Given the description of an element on the screen output the (x, y) to click on. 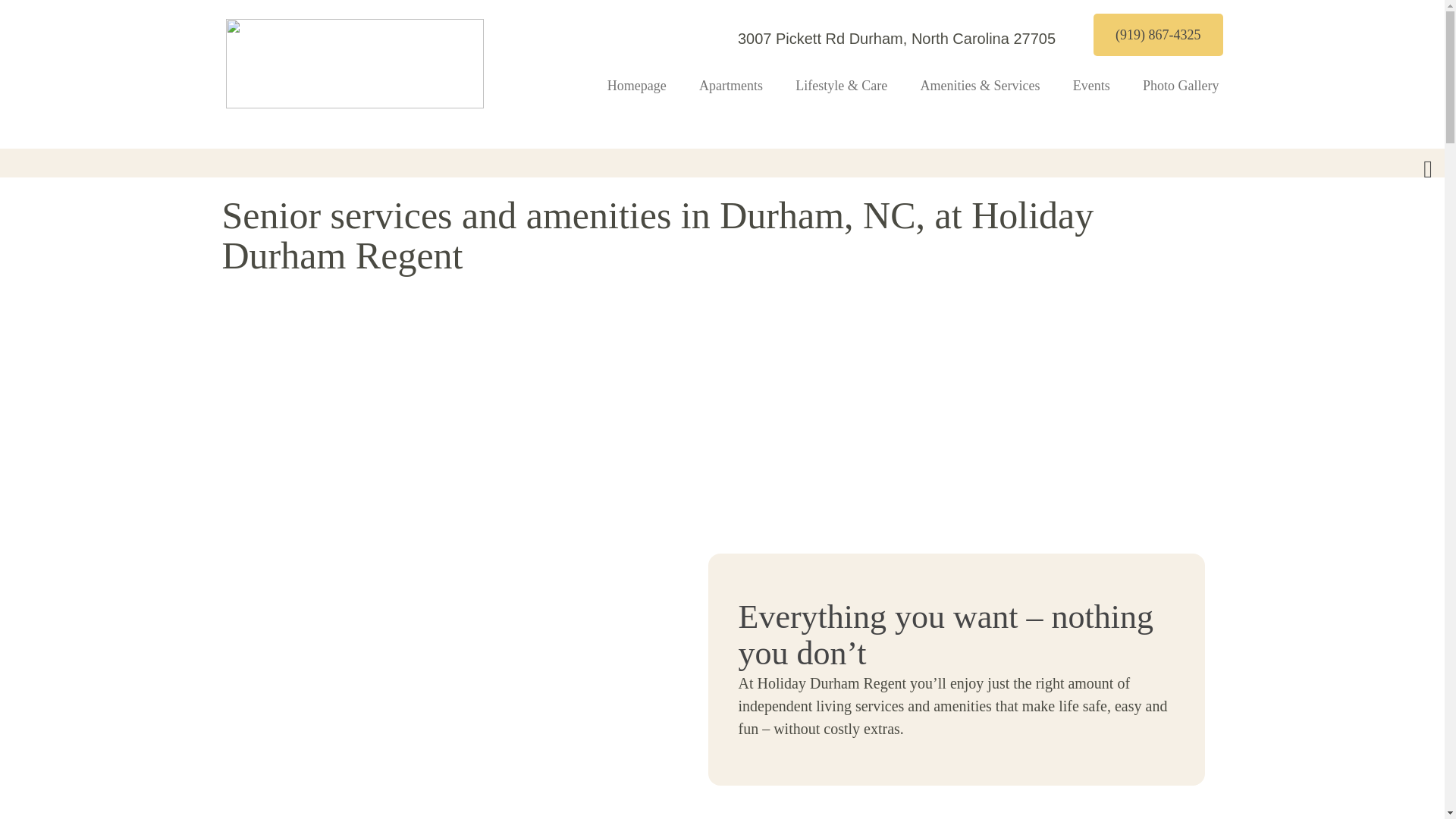
Apartments (731, 86)
Homepage (636, 86)
Photo Gallery (1180, 86)
Events (1090, 86)
